Given the description of an element on the screen output the (x, y) to click on. 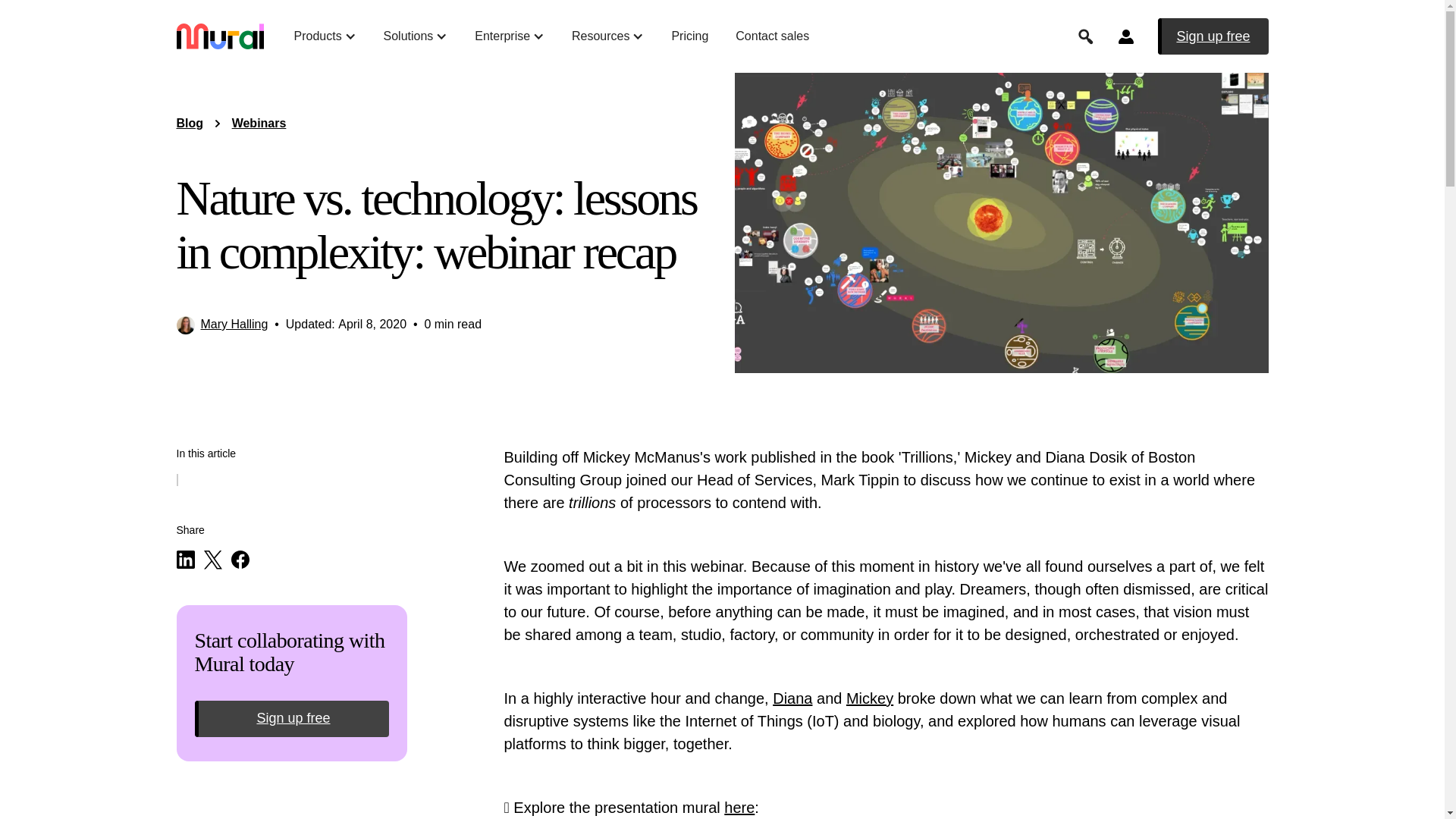
Blog (189, 123)
Mary Halling (233, 323)
Pricing (689, 36)
Contact sales (772, 36)
Webinars (259, 123)
Sign up free (1212, 36)
LinkedIn icon (184, 559)
